Given the description of an element on the screen output the (x, y) to click on. 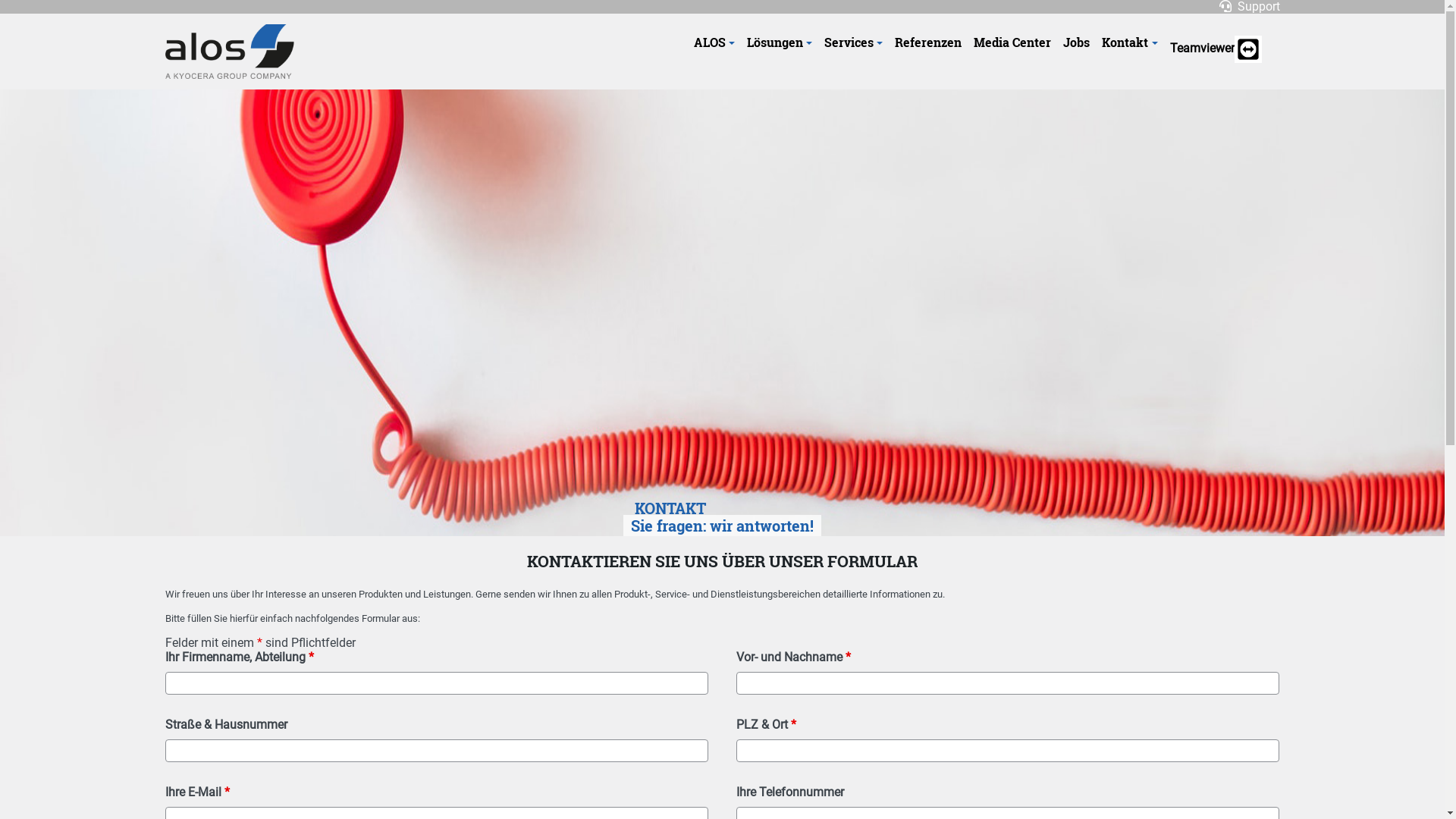
Jobs Element type: text (1076, 42)
Kontakt Element type: text (1129, 42)
Teamviewer Element type: text (1215, 49)
Referenzen Element type: text (927, 42)
Services Element type: text (853, 42)
ALOS Element type: text (713, 42)
Media Center Element type: text (1012, 42)
